Given the description of an element on the screen output the (x, y) to click on. 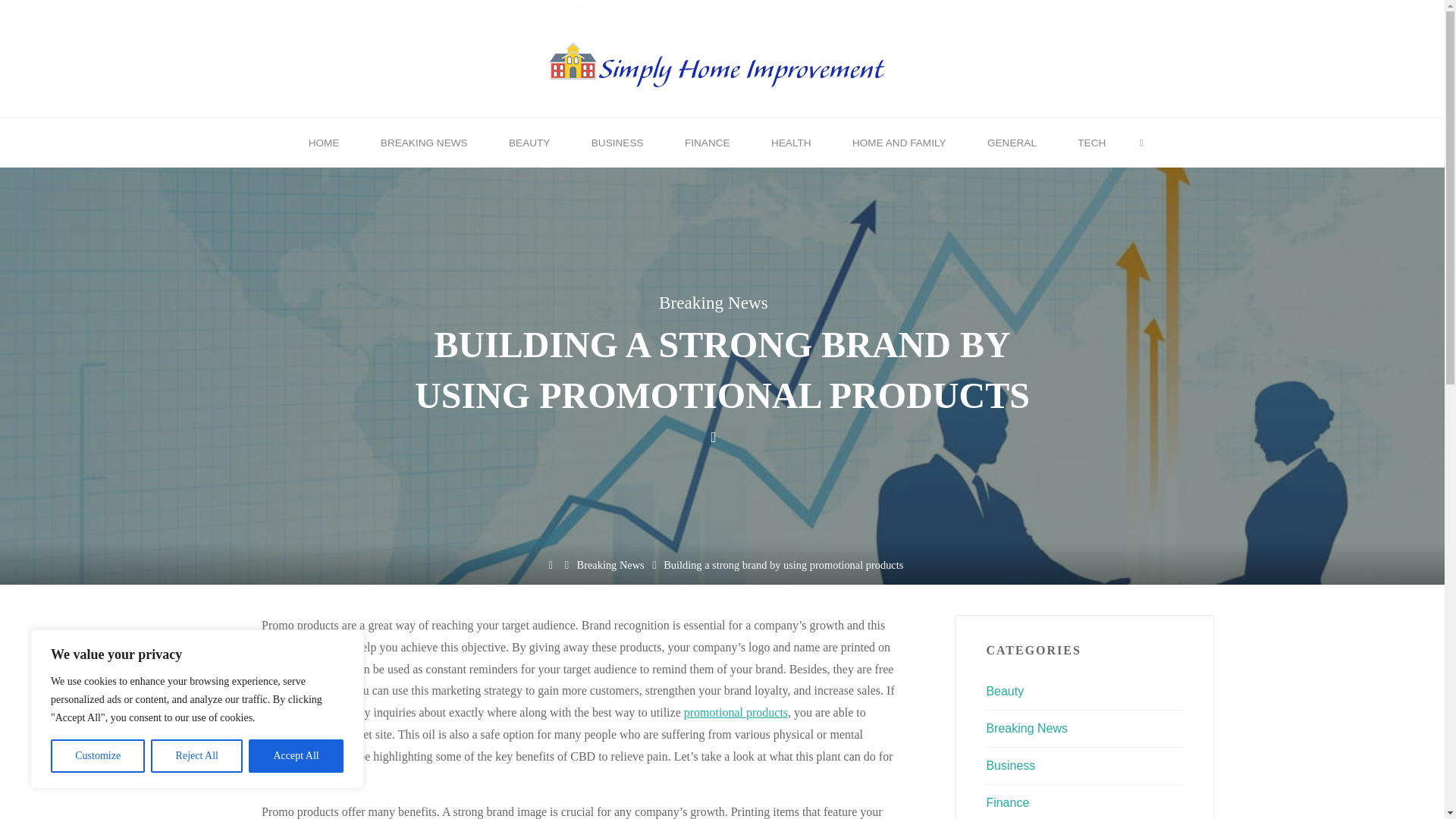
Accept All (295, 756)
Simply Home Improvement (721, 56)
GENERAL (1011, 142)
Reject All (197, 756)
HOME AND FAMILY (898, 142)
BEAUTY (528, 142)
Customize (97, 756)
FINANCE (707, 142)
BREAKING NEWS (423, 142)
Home (550, 564)
